Given the description of an element on the screen output the (x, y) to click on. 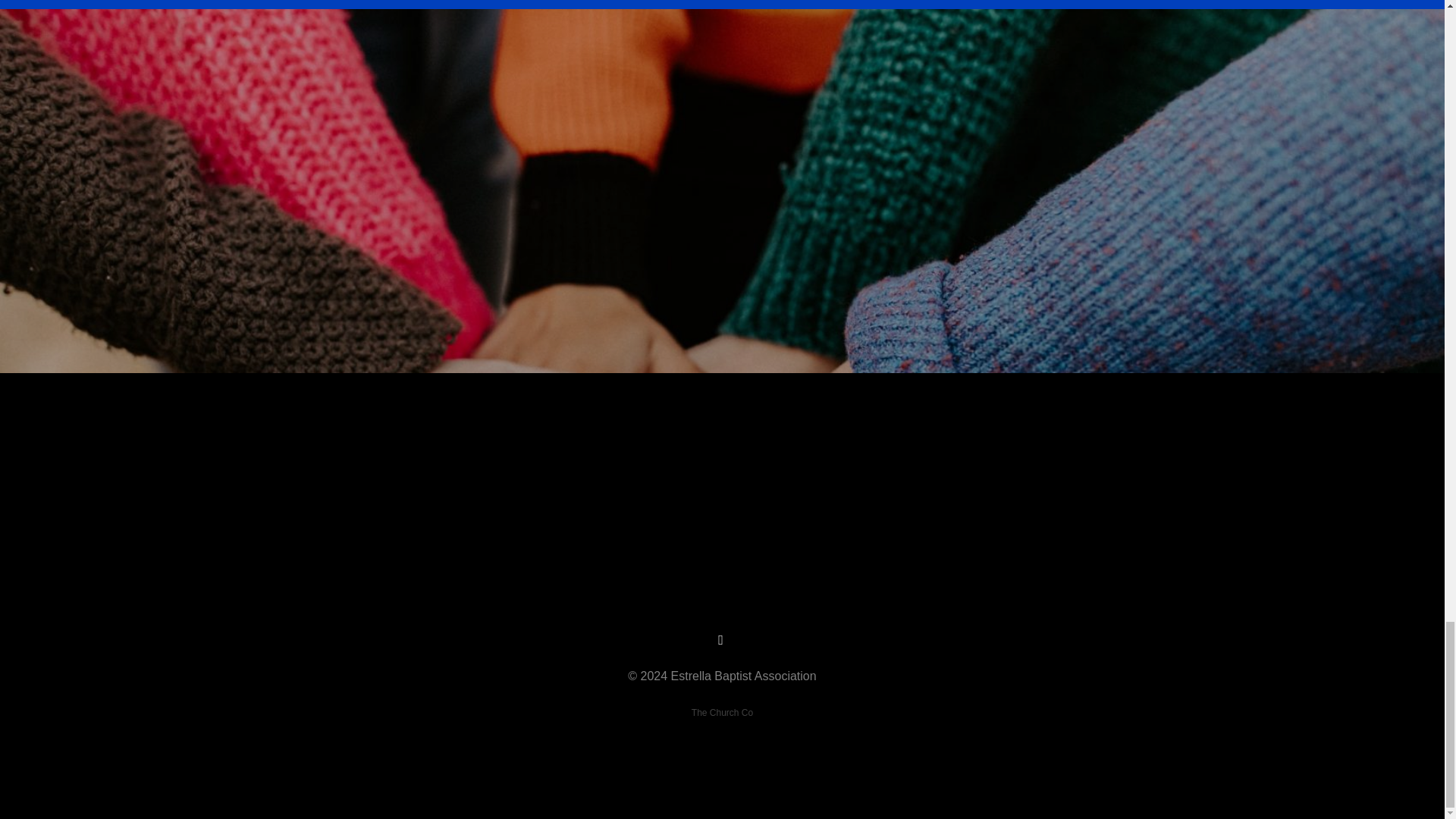
The Church Co (721, 712)
